Given the description of an element on the screen output the (x, y) to click on. 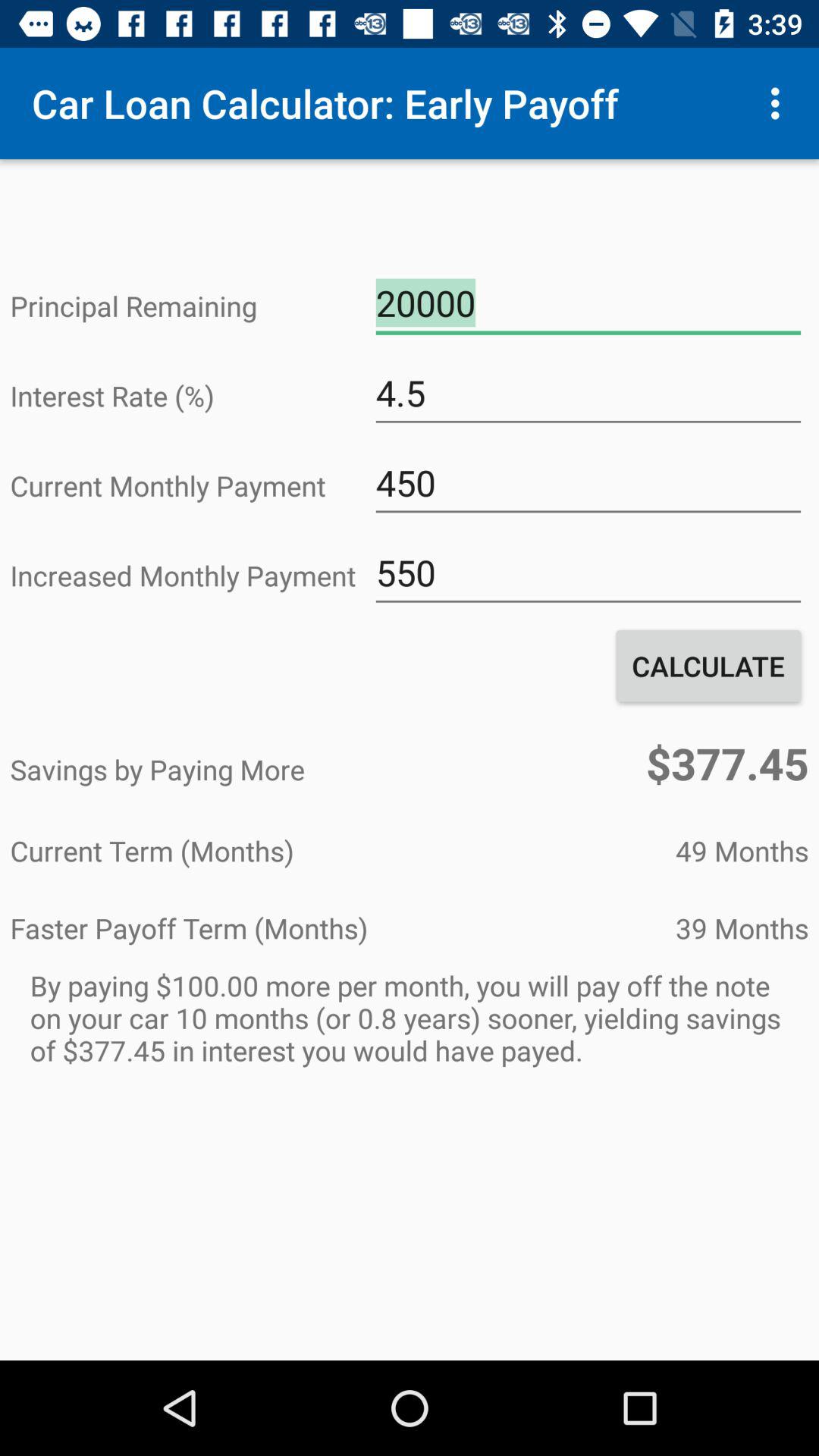
click icon next to interest rate (%) (587, 393)
